Given the description of an element on the screen output the (x, y) to click on. 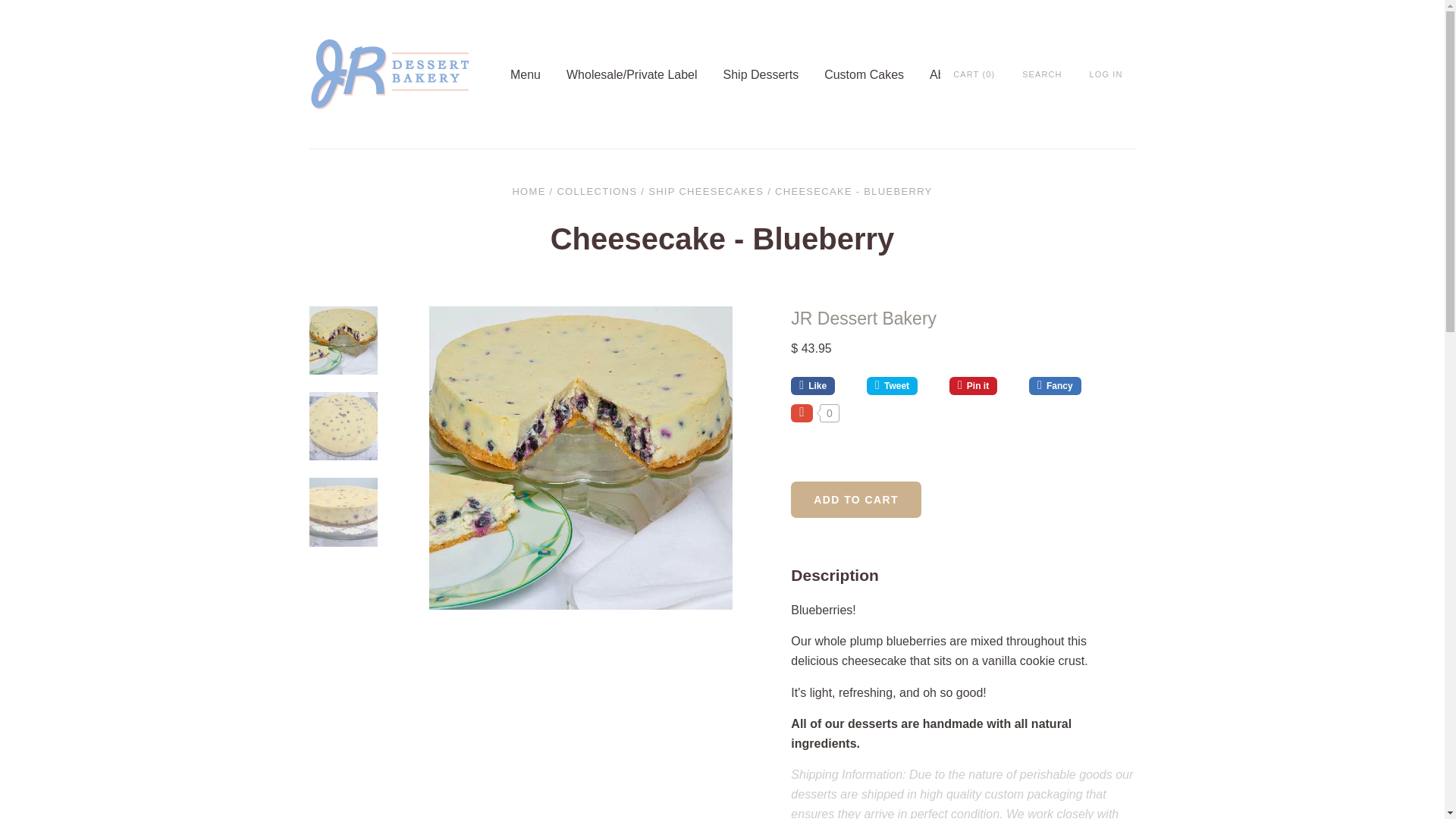
Fancy (1056, 385)
Pin it (983, 385)
JR Dessert Bakery (863, 318)
Add to cart (855, 499)
About (958, 74)
LOG IN (1106, 73)
Menu (538, 74)
HOME (528, 191)
Ship Desserts (774, 74)
Like (823, 385)
